Given the description of an element on the screen output the (x, y) to click on. 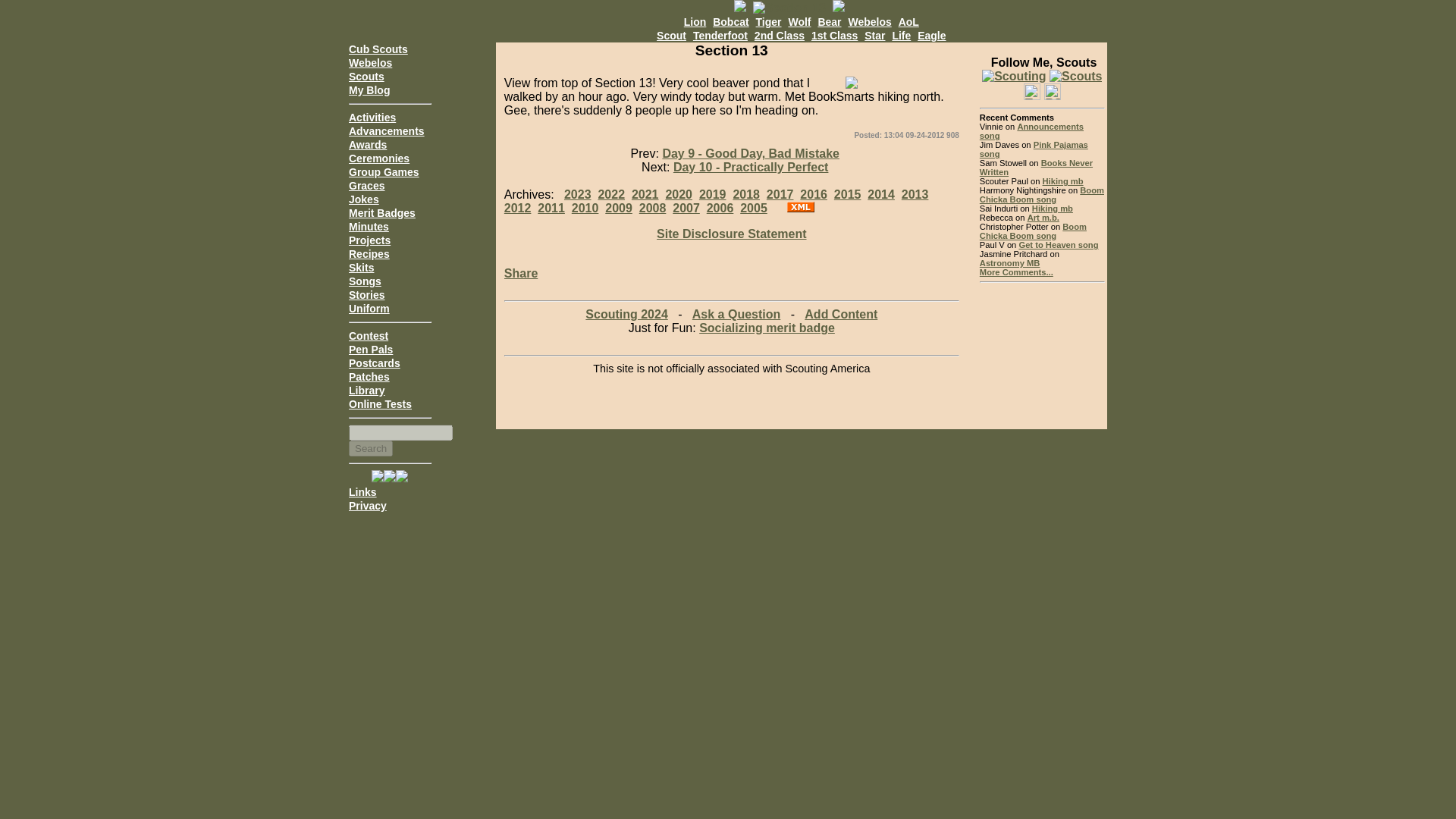
Awards (368, 144)
Merit Badges (381, 213)
Library (366, 390)
Webelos (370, 62)
Tiger (768, 21)
Lion (695, 21)
Minutes (368, 226)
Activities (372, 117)
Uniform (369, 308)
Advancements (387, 131)
